Given the description of an element on the screen output the (x, y) to click on. 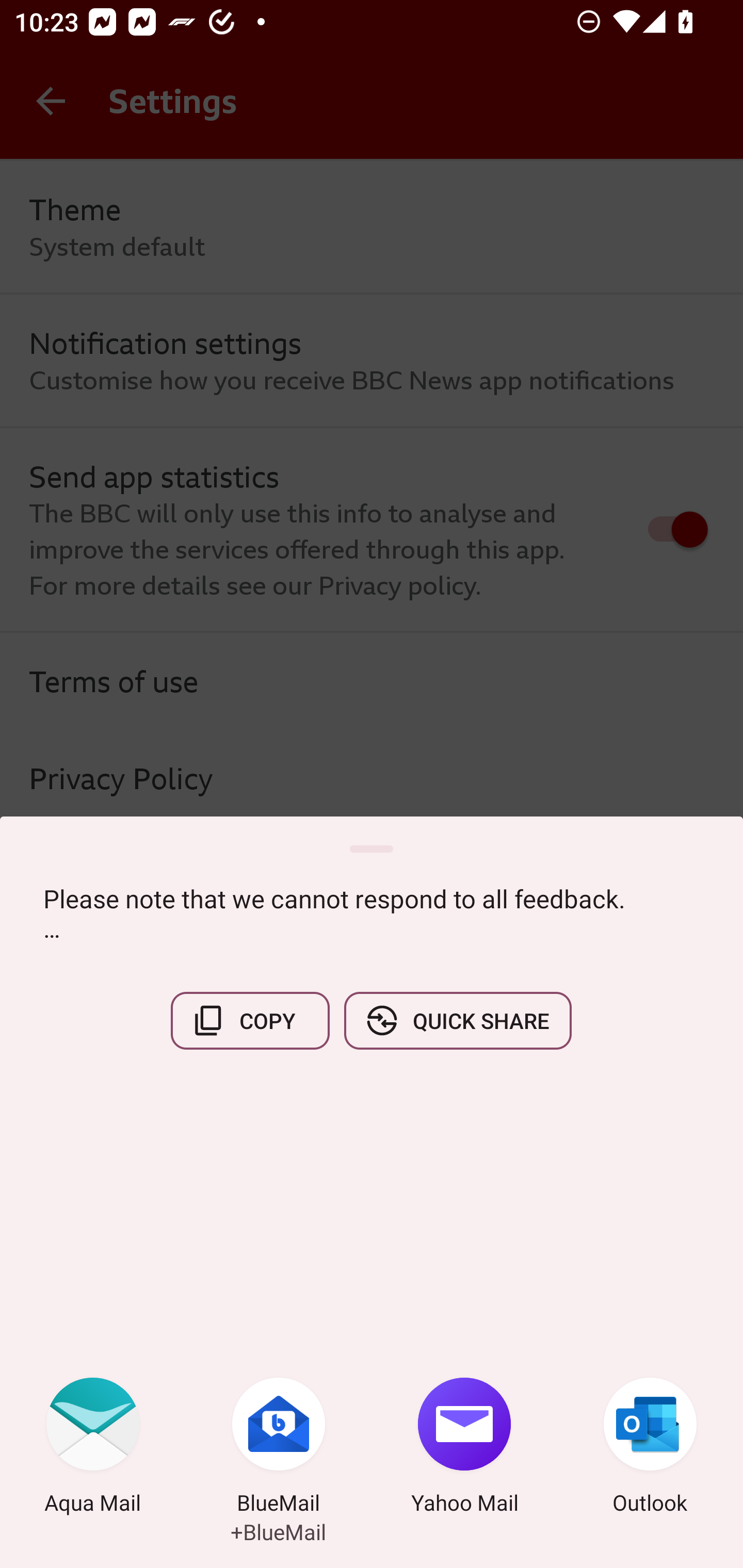
COPY (249, 1020)
QUICK SHARE (457, 1020)
Aqua Mail (92, 1448)
BlueMail +BlueMail (278, 1448)
Yahoo Mail (464, 1448)
Outlook (650, 1448)
